Given the description of an element on the screen output the (x, y) to click on. 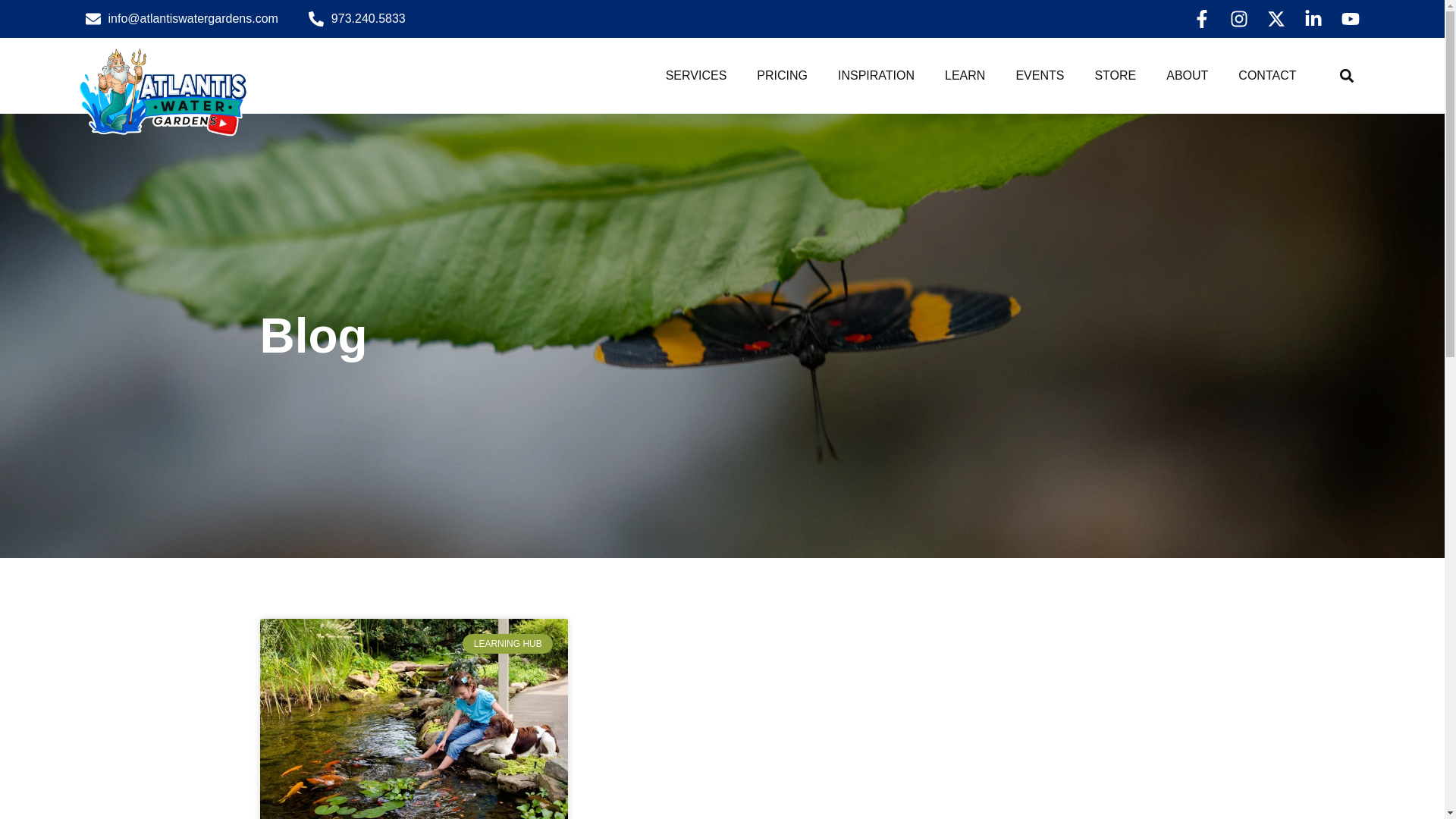
SERVICES (696, 75)
EVENTS (1039, 75)
PRICING (781, 75)
973.240.5833 (357, 18)
LEARN (965, 75)
INSPIRATION (876, 75)
ABOUT (1187, 75)
STORE (1114, 75)
